Given the description of an element on the screen output the (x, y) to click on. 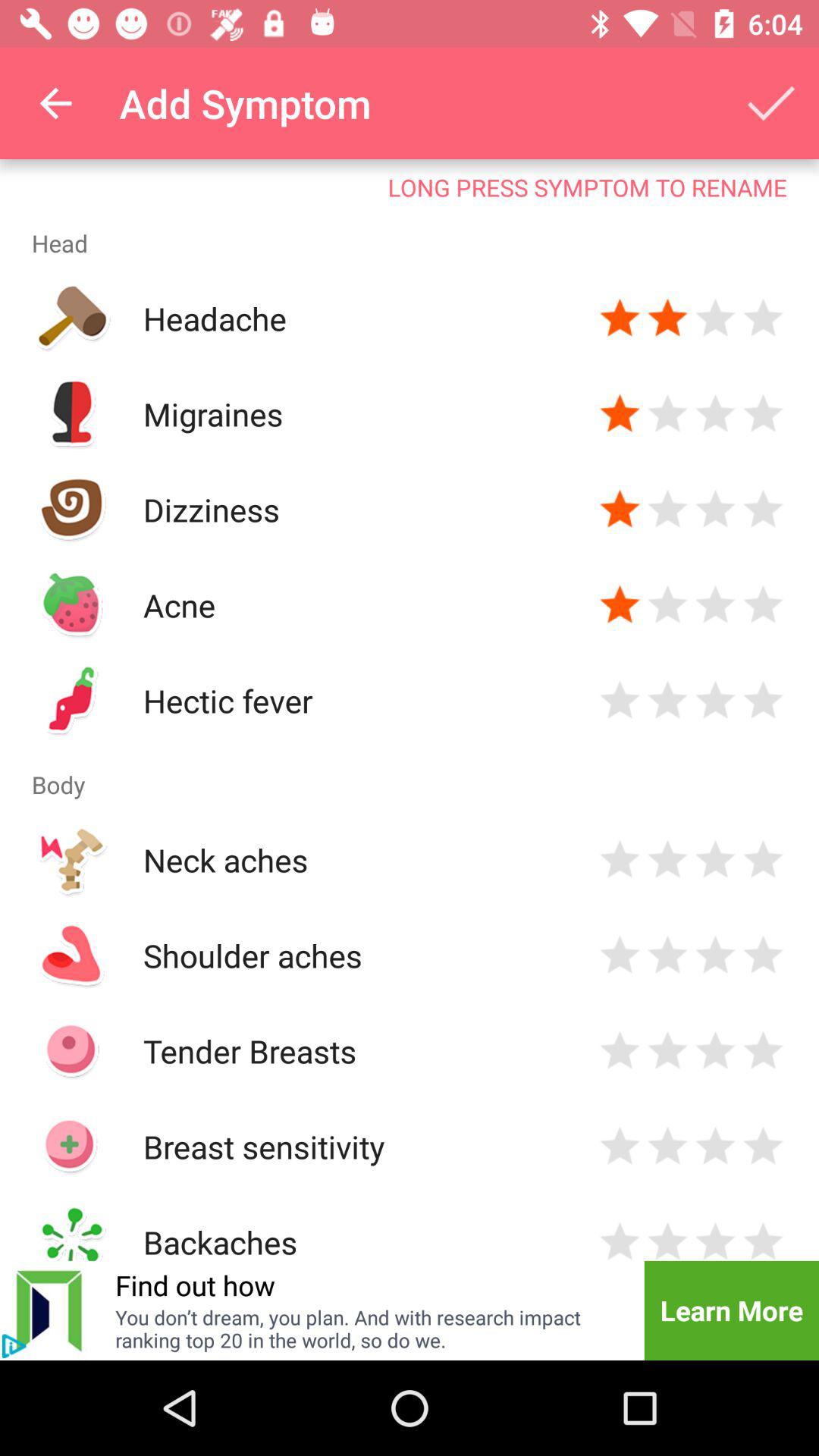
swipe to the you don t icon (369, 1329)
